Given the description of an element on the screen output the (x, y) to click on. 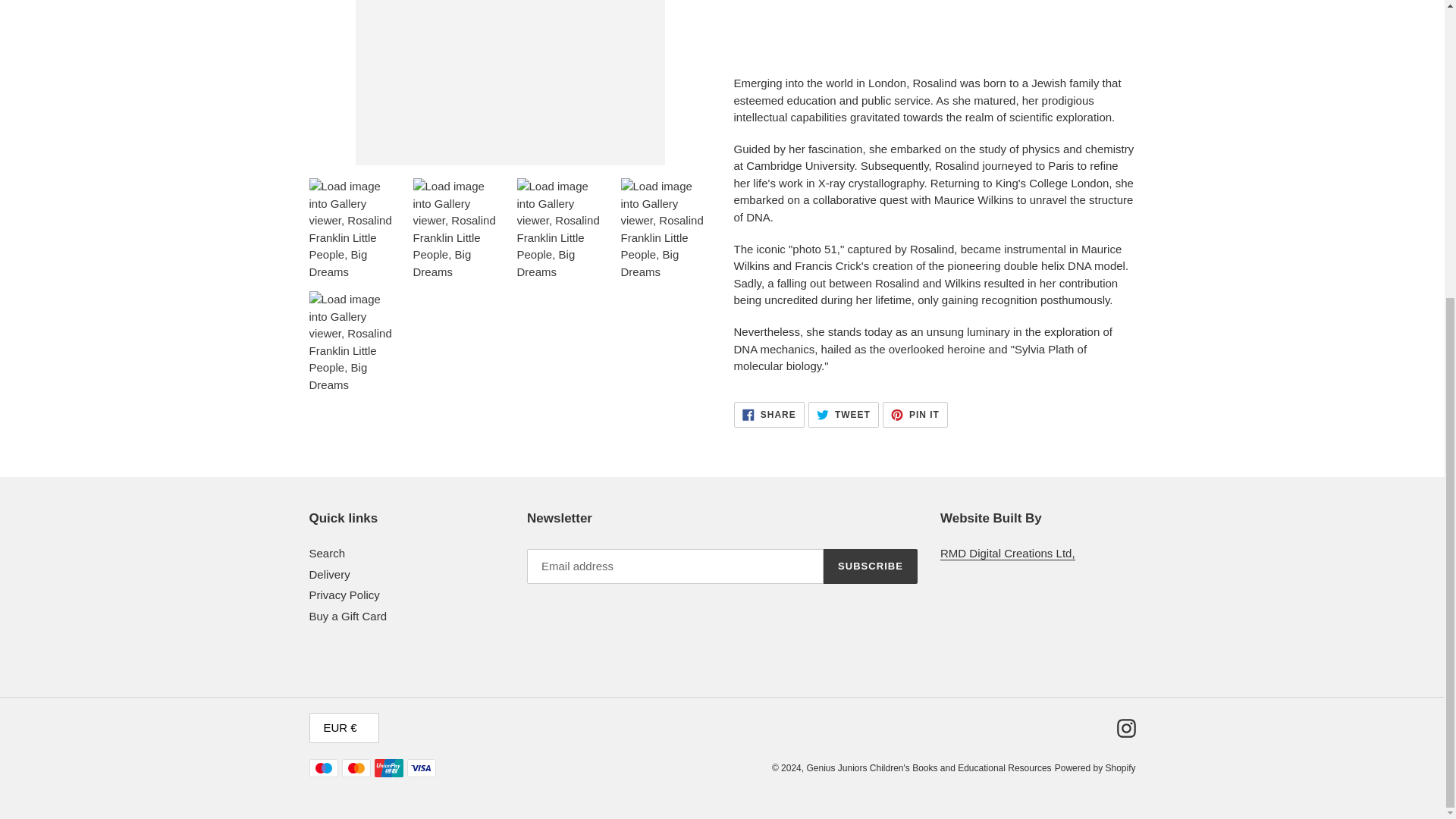
RMD Digital Creations Ltd, (1007, 553)
